Given the description of an element on the screen output the (x, y) to click on. 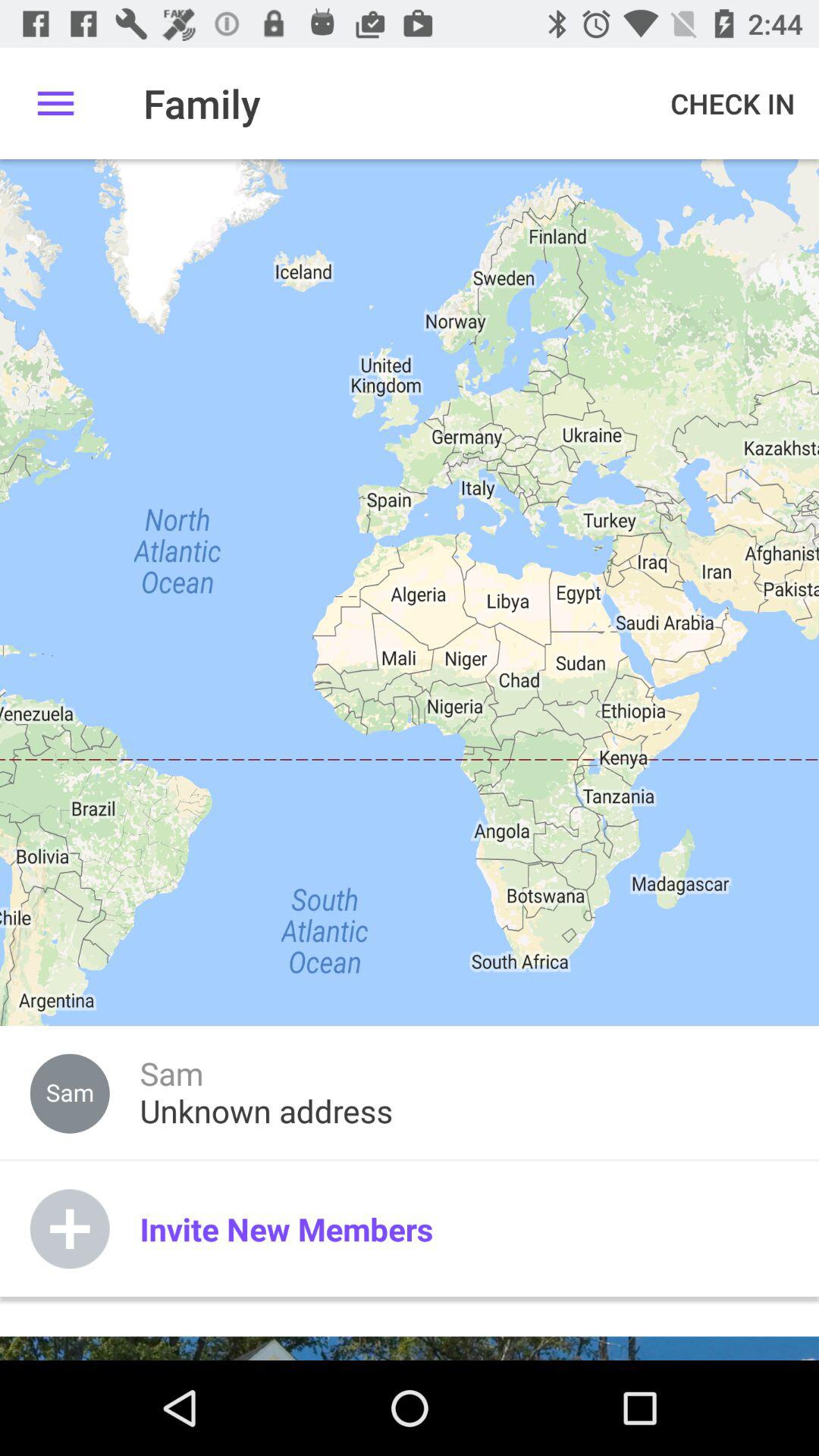
tap the item next to the family (55, 103)
